Given the description of an element on the screen output the (x, y) to click on. 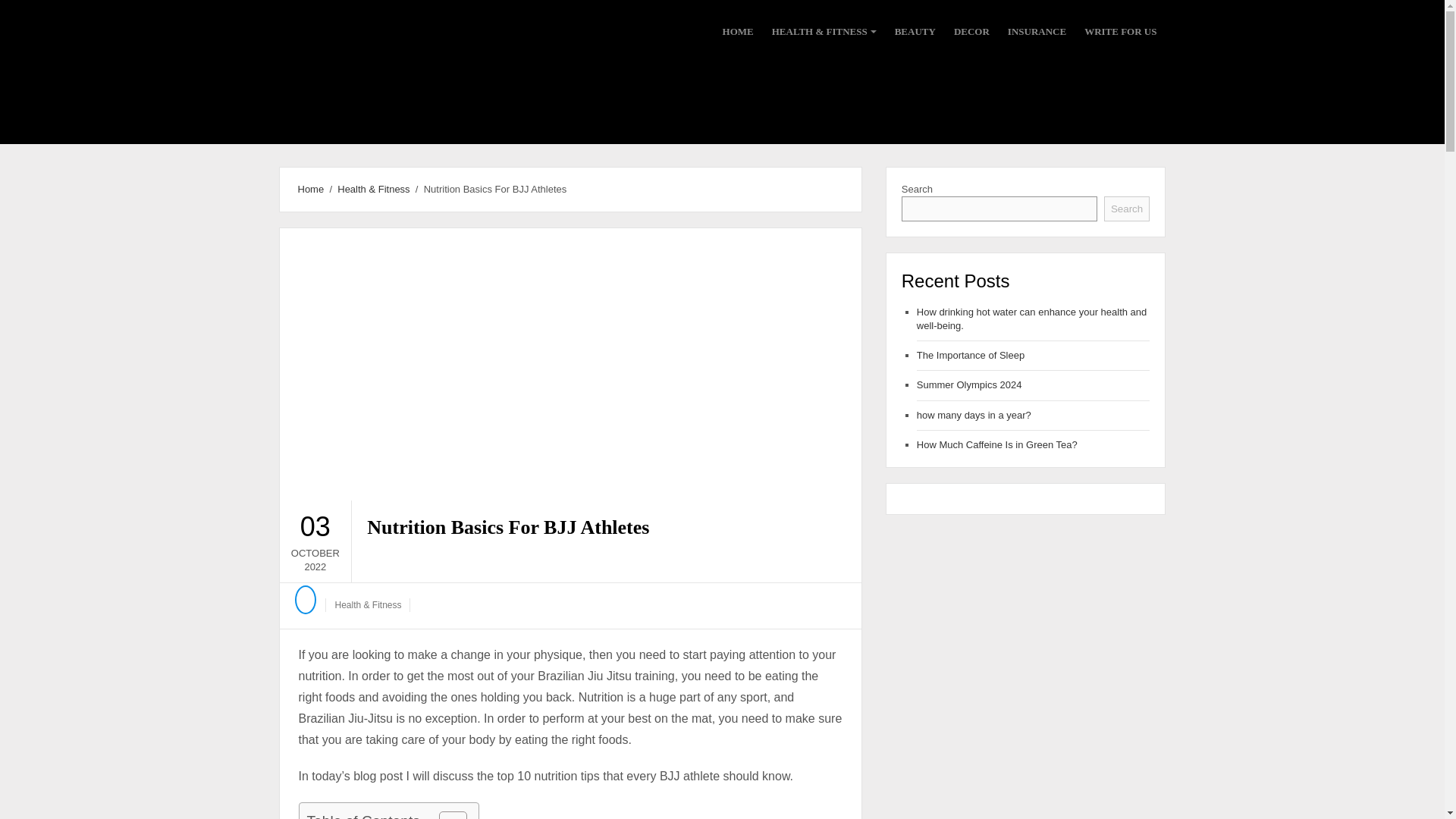
WRITE FOR US (1120, 31)
Home (308, 188)
BEAUTY (915, 31)
HOME (736, 31)
INSURANCE (1036, 31)
DECOR (971, 31)
